Given the description of an element on the screen output the (x, y) to click on. 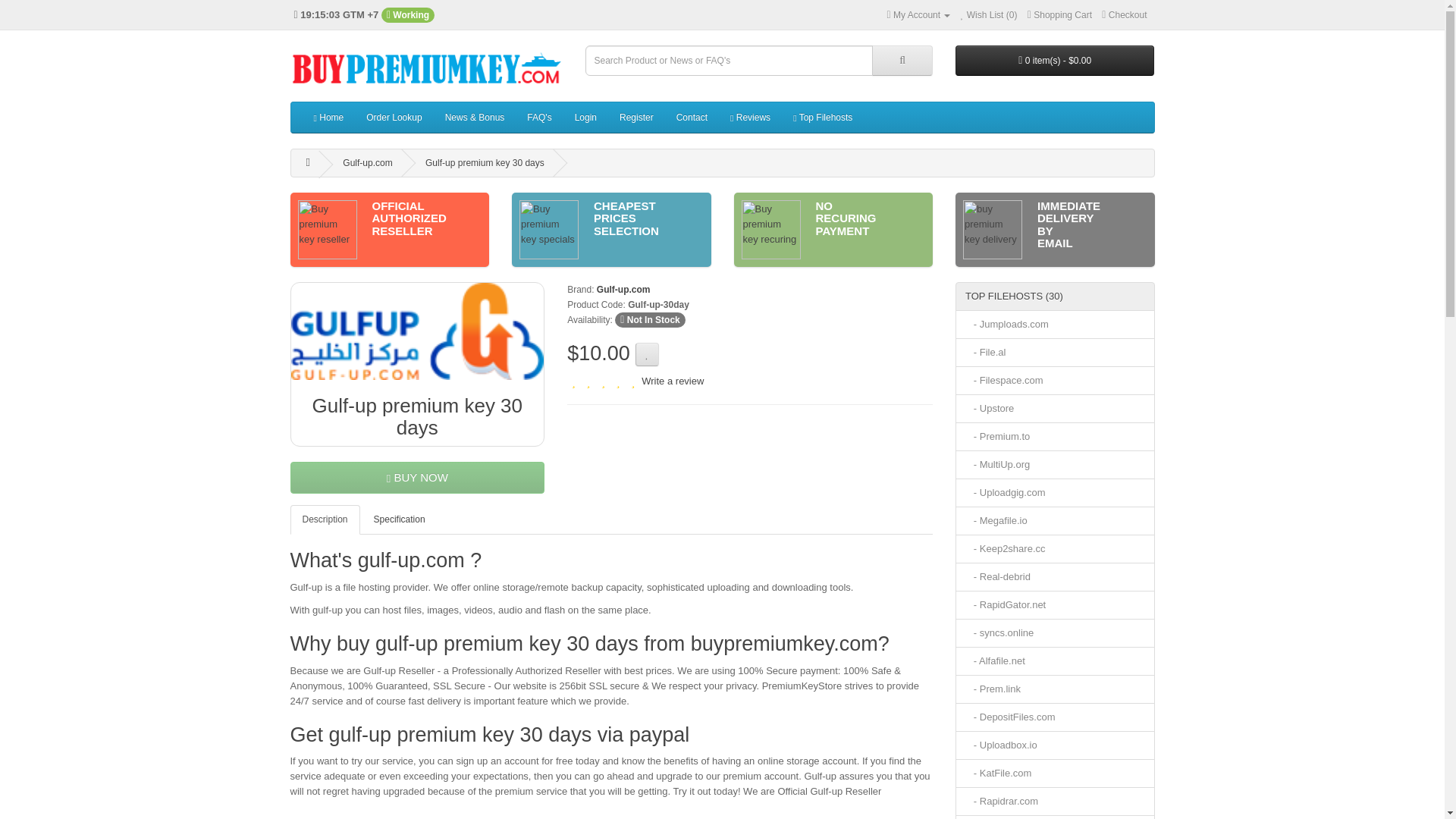
Home (328, 117)
Reviews (750, 117)
My Account (918, 14)
Login (585, 117)
Gulf-up premium key 30 days (417, 331)
Shopping Cart (1059, 14)
Contact (692, 117)
Register (636, 117)
Checkout (1124, 14)
My Account (918, 14)
